Given the description of an element on the screen output the (x, y) to click on. 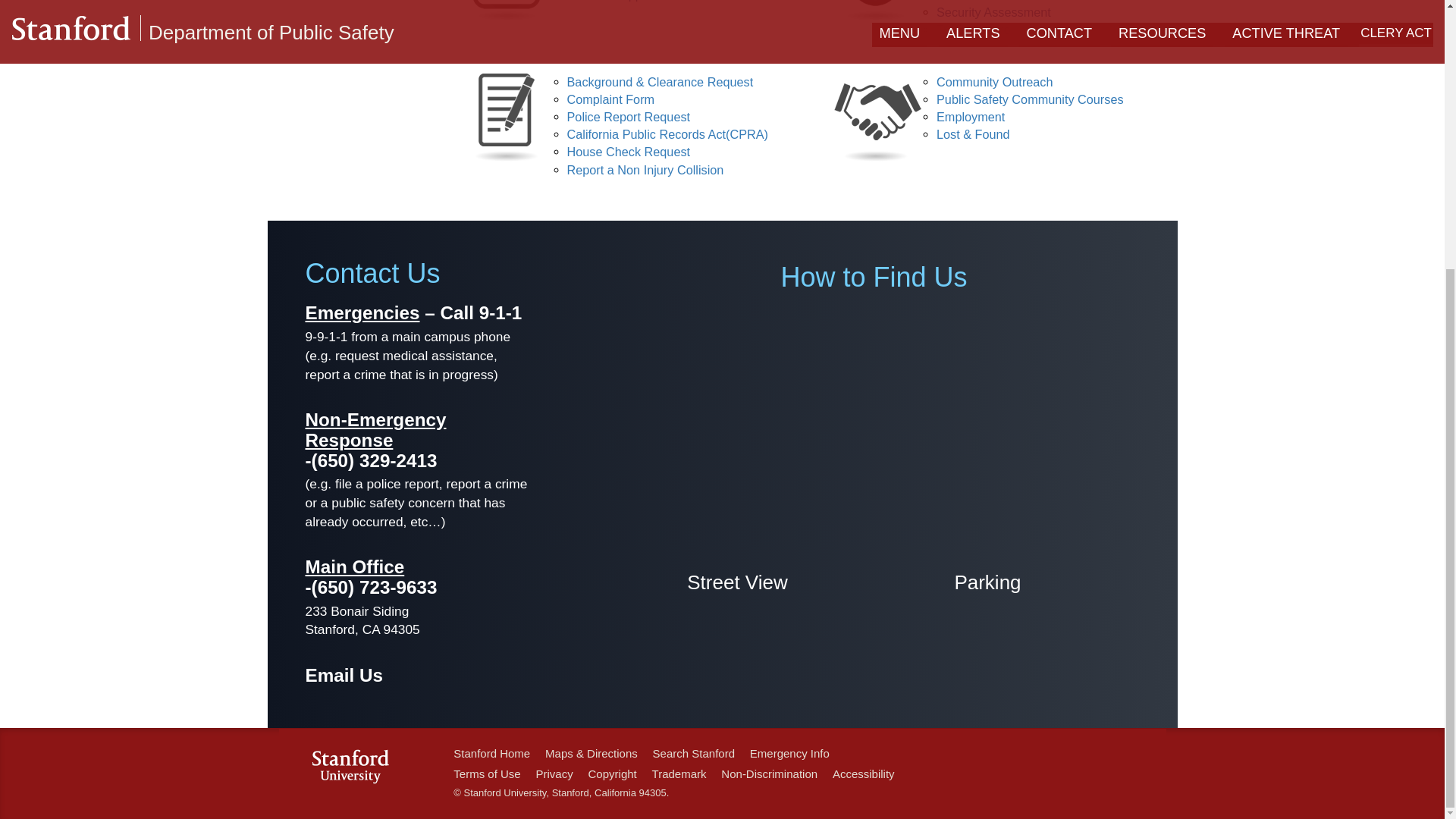
Non-discrimination policy (768, 773)
Report web accessibility issues (863, 773)
LiveScan Appointment (628, 0)
Privacy and cookie policy (554, 773)
Report alleged copyright infringement (612, 773)
Ownership and use of Stanford trademarks and images (679, 773)
Terms of use for sites (485, 773)
